Given the description of an element on the screen output the (x, y) to click on. 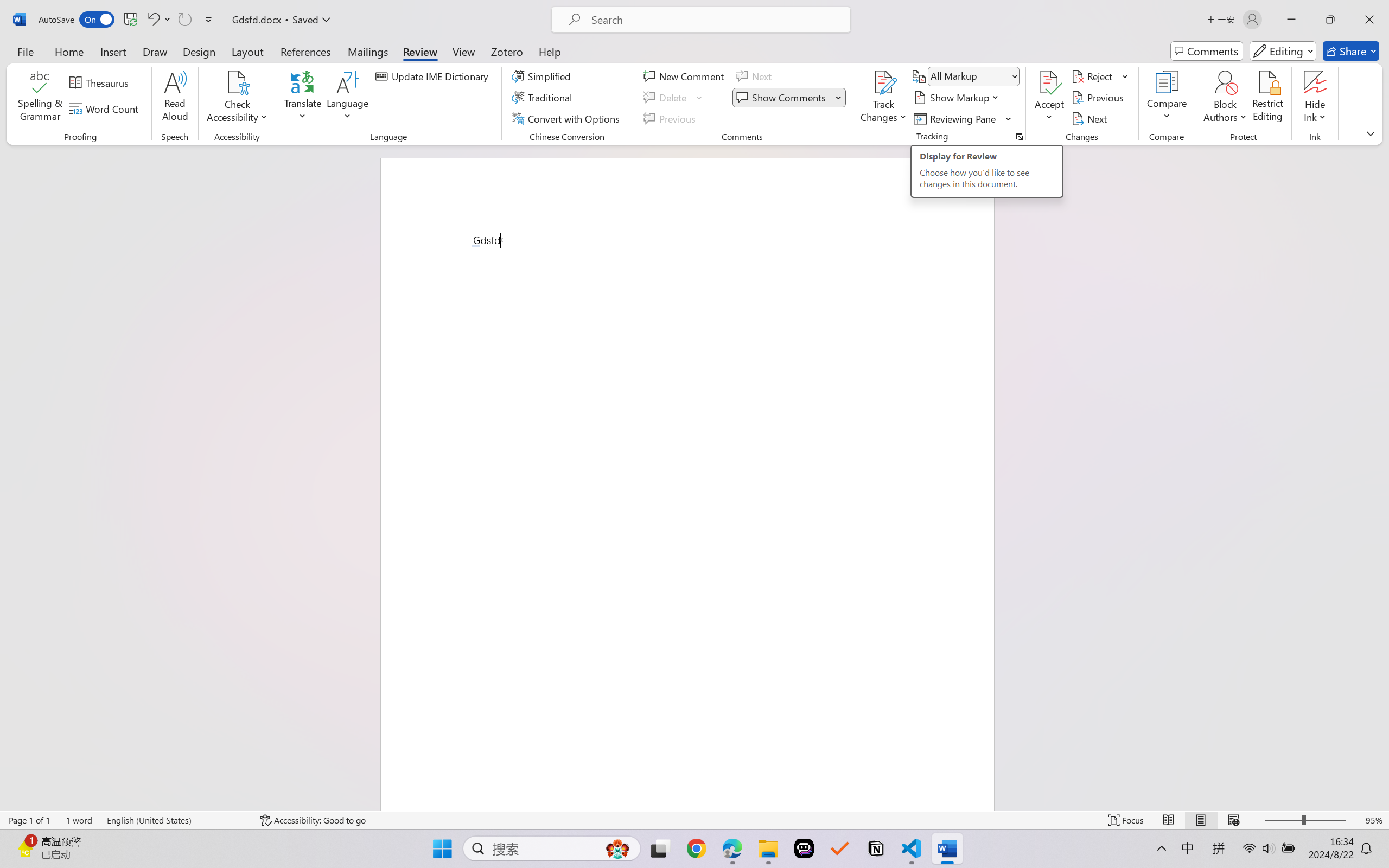
Read Aloud (174, 97)
Reject and Move to Next (1093, 75)
Track Changes (883, 81)
Reject (1100, 75)
Simplified (542, 75)
